Given the description of an element on the screen output the (x, y) to click on. 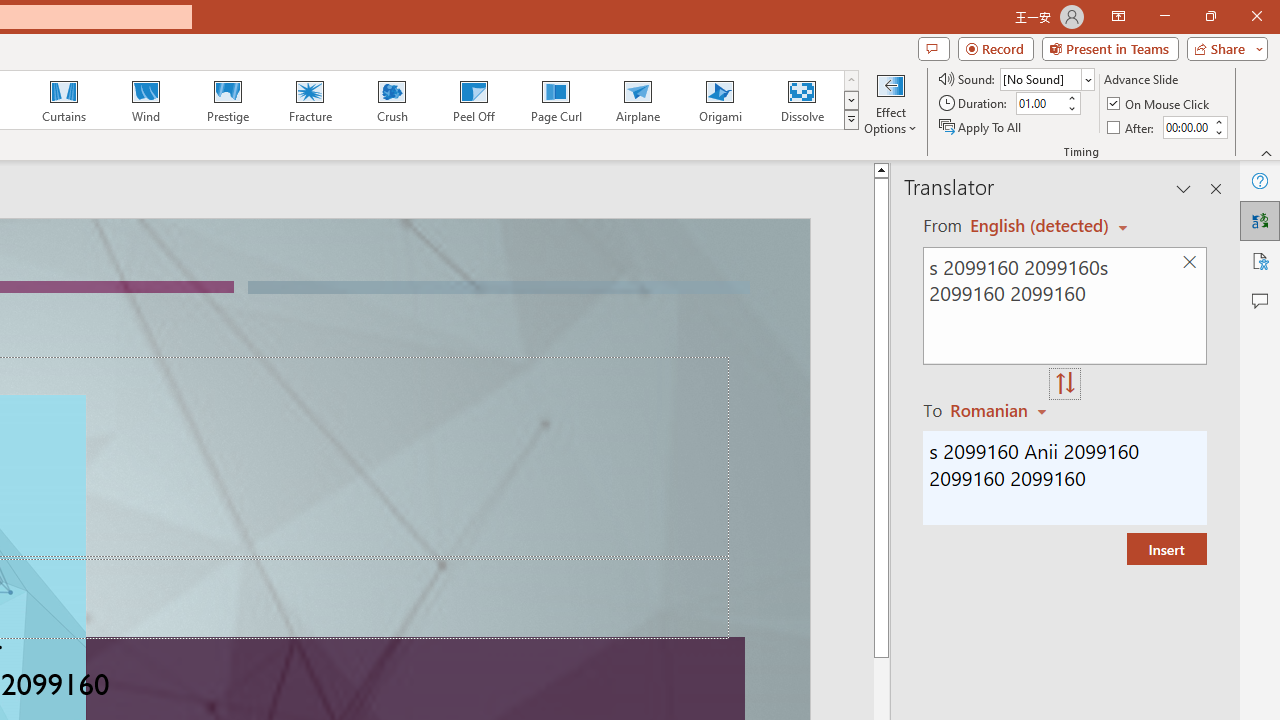
Task Pane Options (1183, 188)
Swap "from" and "to" languages. (1065, 383)
Transition Effects (850, 120)
After (1131, 126)
Accessibility (1260, 260)
Curtains (63, 100)
Crush (391, 100)
Class: NetUIImage (851, 119)
Apply To All (981, 126)
Czech (1001, 409)
Czech (detected) (1039, 225)
